Given the description of an element on the screen output the (x, y) to click on. 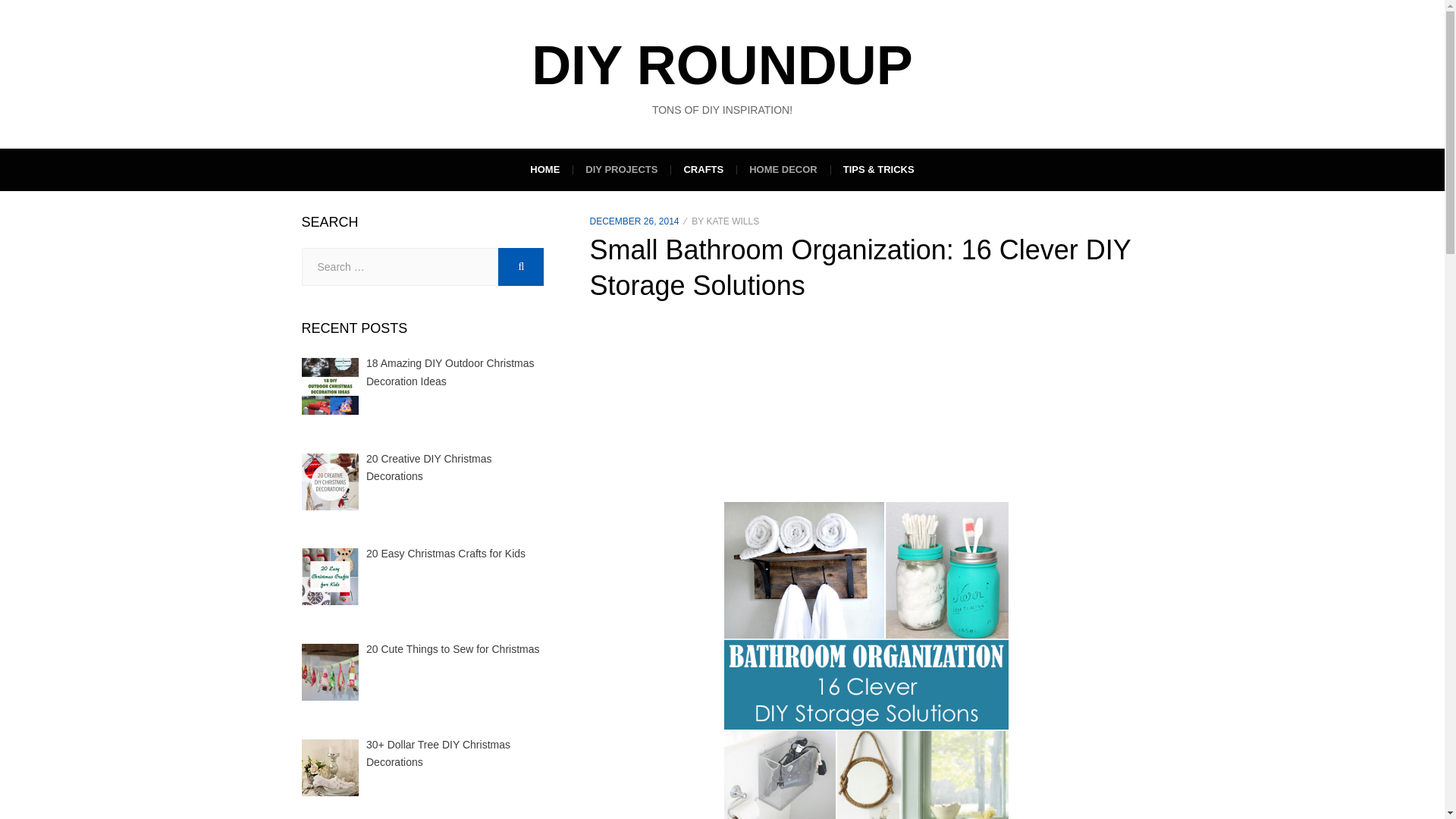
DECEMBER 26, 2014 (633, 221)
HOME (544, 169)
20 Creative DIY Christmas Decorations (429, 467)
DIY ROUNDUP (721, 65)
KATE WILLS (732, 221)
DIY Roundup (721, 65)
HOME DECOR (782, 169)
DIY PROJECTS (620, 169)
18 Amazing DIY Outdoor Christmas Decoration Ideas (450, 372)
20 Easy Christmas Crafts for Kids (445, 553)
